Given the description of an element on the screen output the (x, y) to click on. 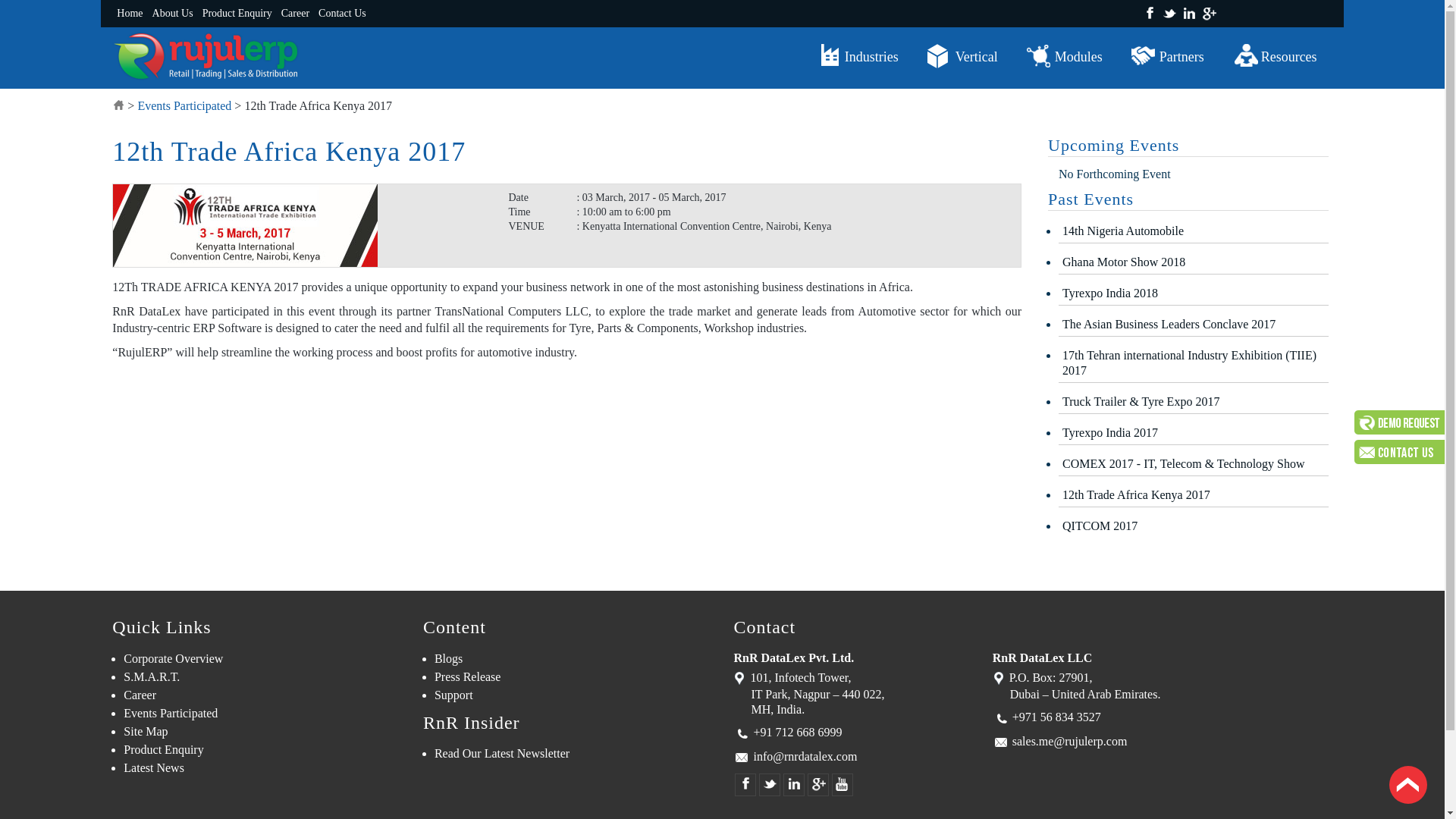
Home (129, 13)
Vertical (963, 56)
Product Enquiry (237, 13)
Go to Rujulerp. (117, 105)
Modules (1064, 56)
Go to Events Participated. (183, 105)
Career (295, 13)
Contact Us (342, 13)
About Us (173, 13)
Industries (857, 56)
Resources (1275, 56)
Partners (1168, 56)
